Given the description of an element on the screen output the (x, y) to click on. 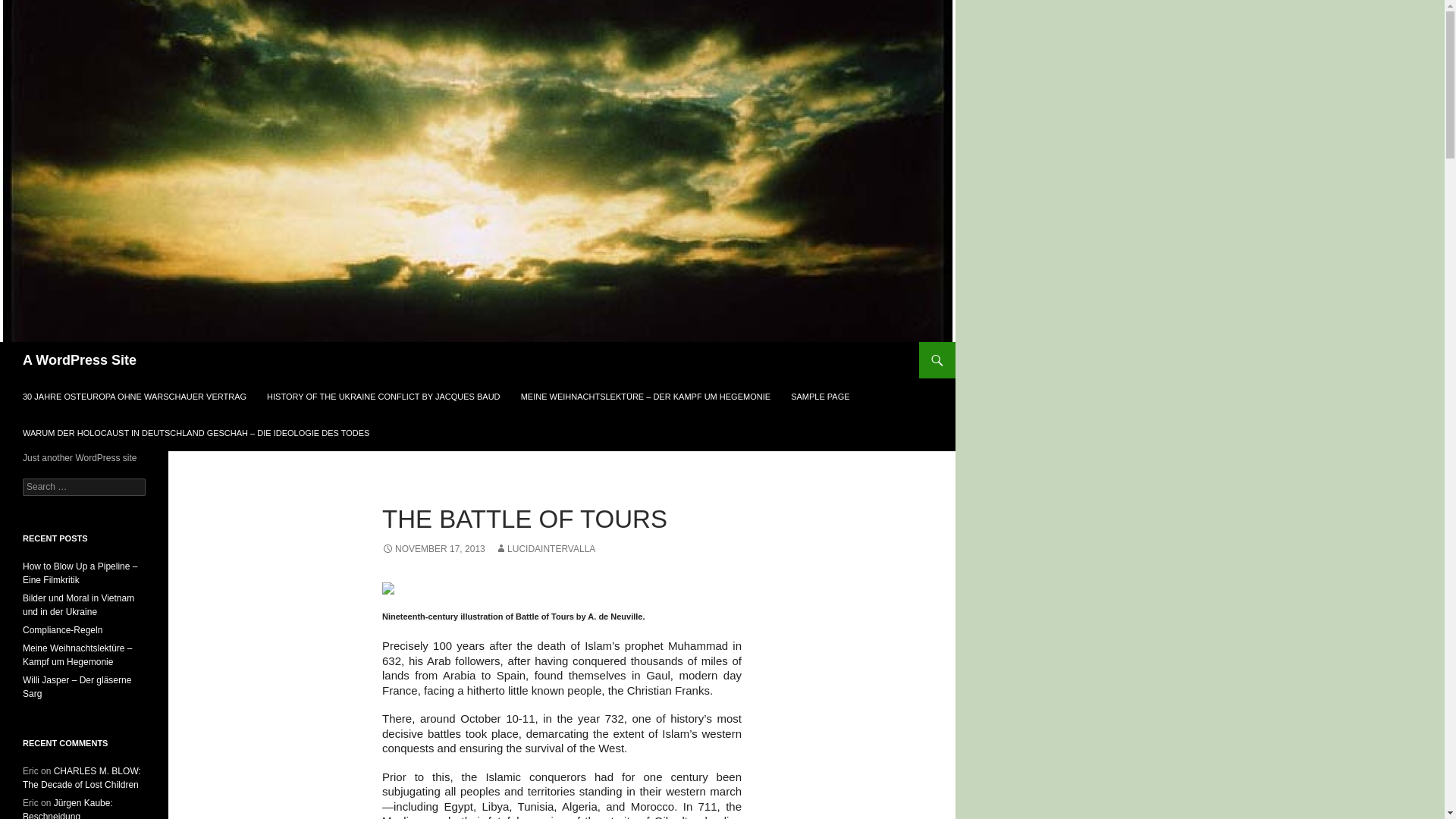
Bilder und Moral in Vietnam und in der Ukraine (78, 604)
A WordPress Site (79, 360)
SAMPLE PAGE (820, 396)
CHARLES M. BLOW: The Decade of Lost Children (82, 777)
LUCIDAINTERVALLA (545, 548)
30 JAHRE OSTEUROPA OHNE WARSCHAUER VERTRAG (134, 396)
Search (30, 8)
HISTORY OF THE UKRAINE CONFLICT BY JACQUES BAUD (382, 396)
